Given the description of an element on the screen output the (x, y) to click on. 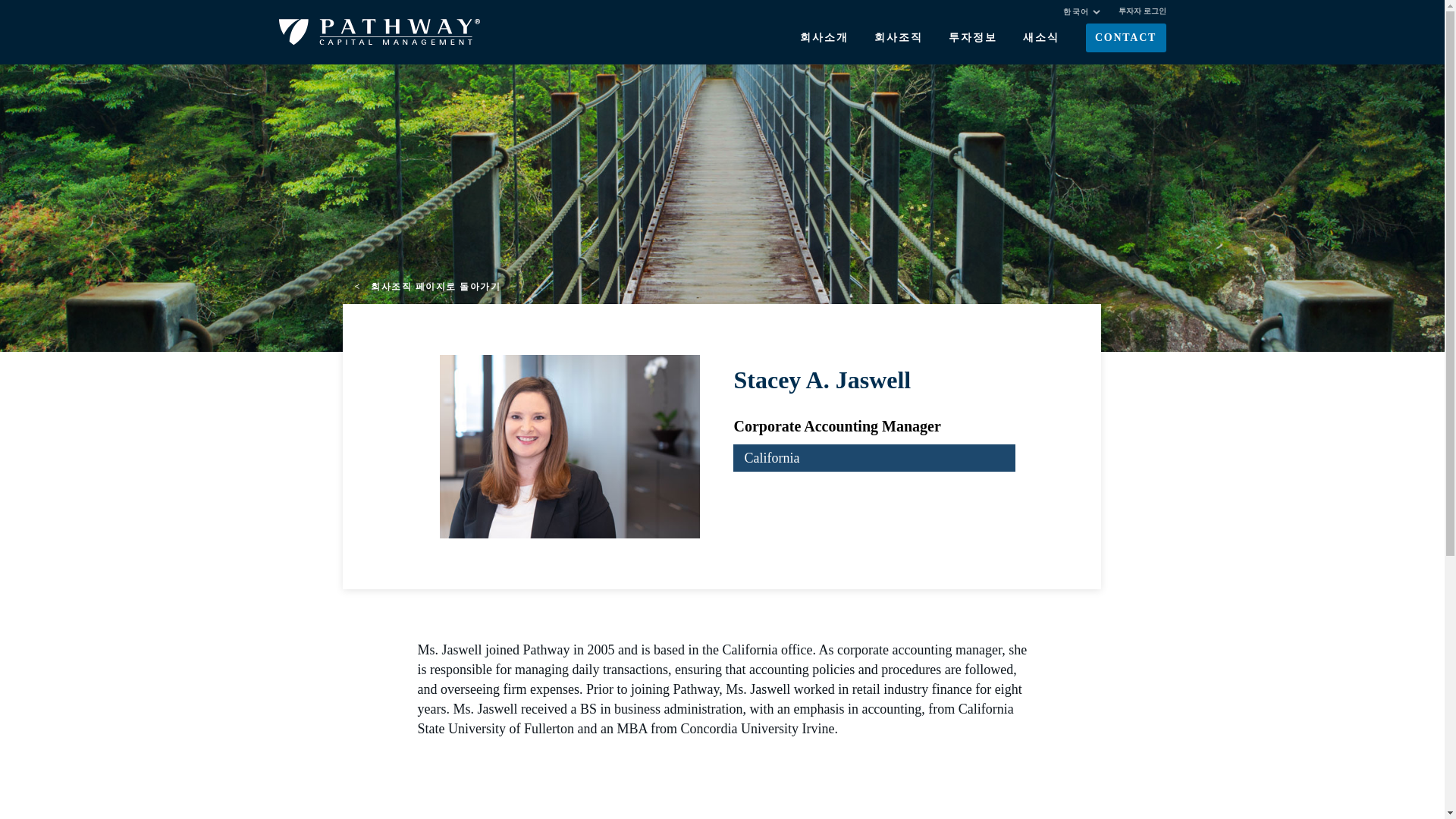
Client login (1142, 10)
CONTACT (1126, 37)
Back (426, 286)
